Given the description of an element on the screen output the (x, y) to click on. 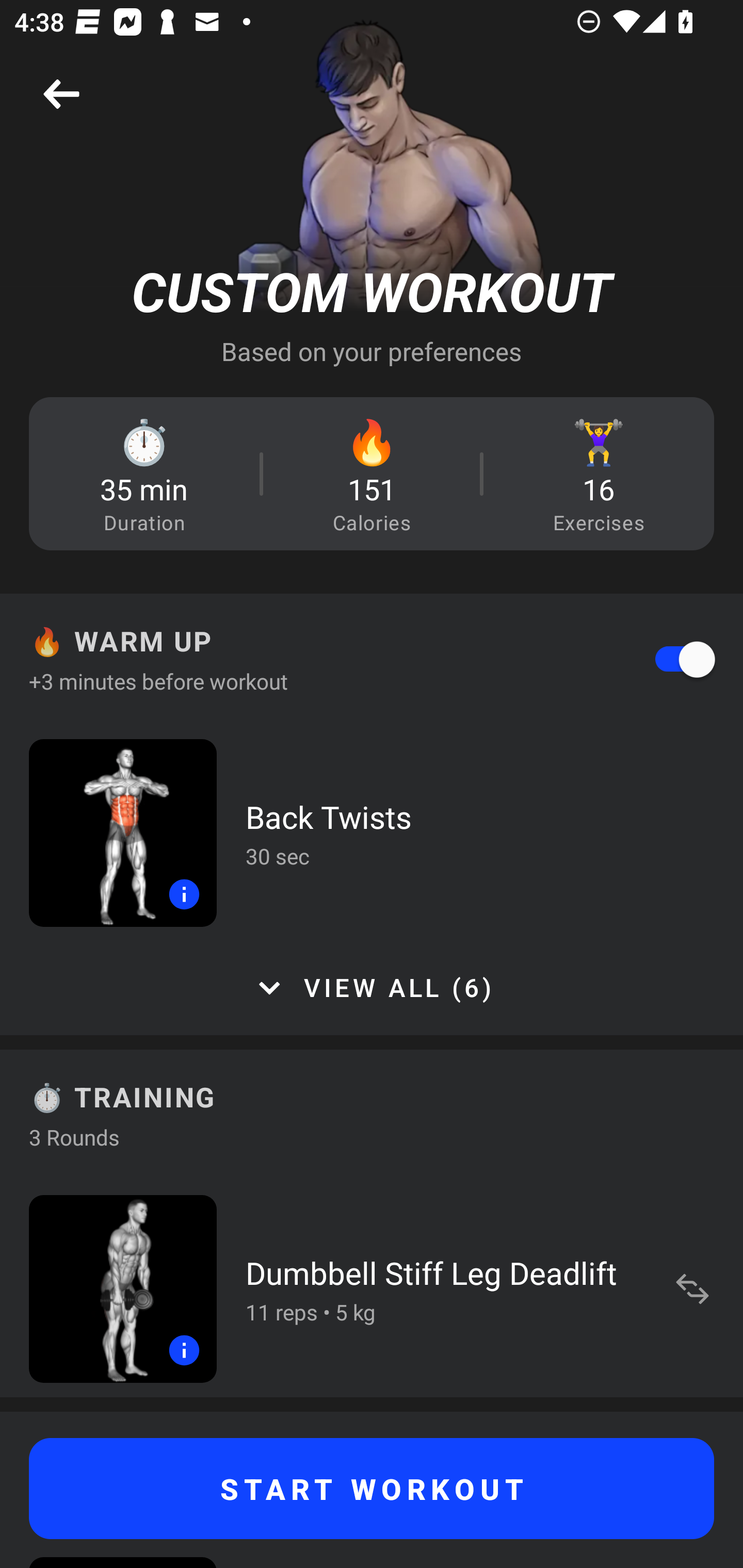
Back Twists 30 sec (371, 832)
VIEW ALL (6) (371, 987)
Dumbbell Stiff Leg Deadlift 11 reps • 5 kg (371, 1288)
START WORKOUT (371, 1488)
